Given the description of an element on the screen output the (x, y) to click on. 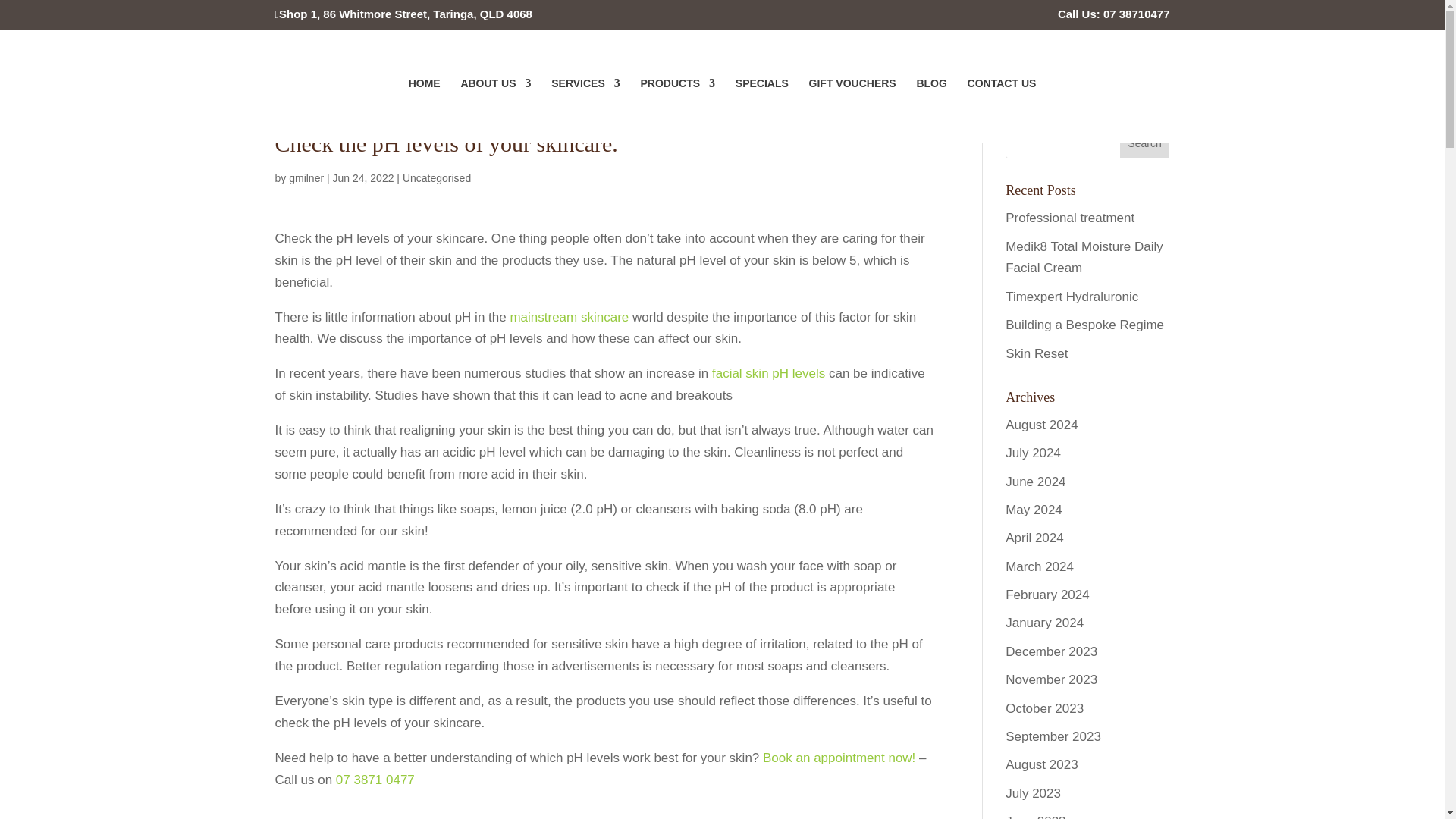
Skin Reset (1036, 353)
Uncategorised (436, 177)
Posts by gmilner (305, 177)
CONTACT US (1002, 109)
SERVICES (585, 109)
Call Us: 07 38710477 (1114, 17)
gmilner (305, 177)
facial skin pH levels (768, 373)
Search (1144, 142)
Timexpert Hydraluronic (1072, 296)
